Given the description of an element on the screen output the (x, y) to click on. 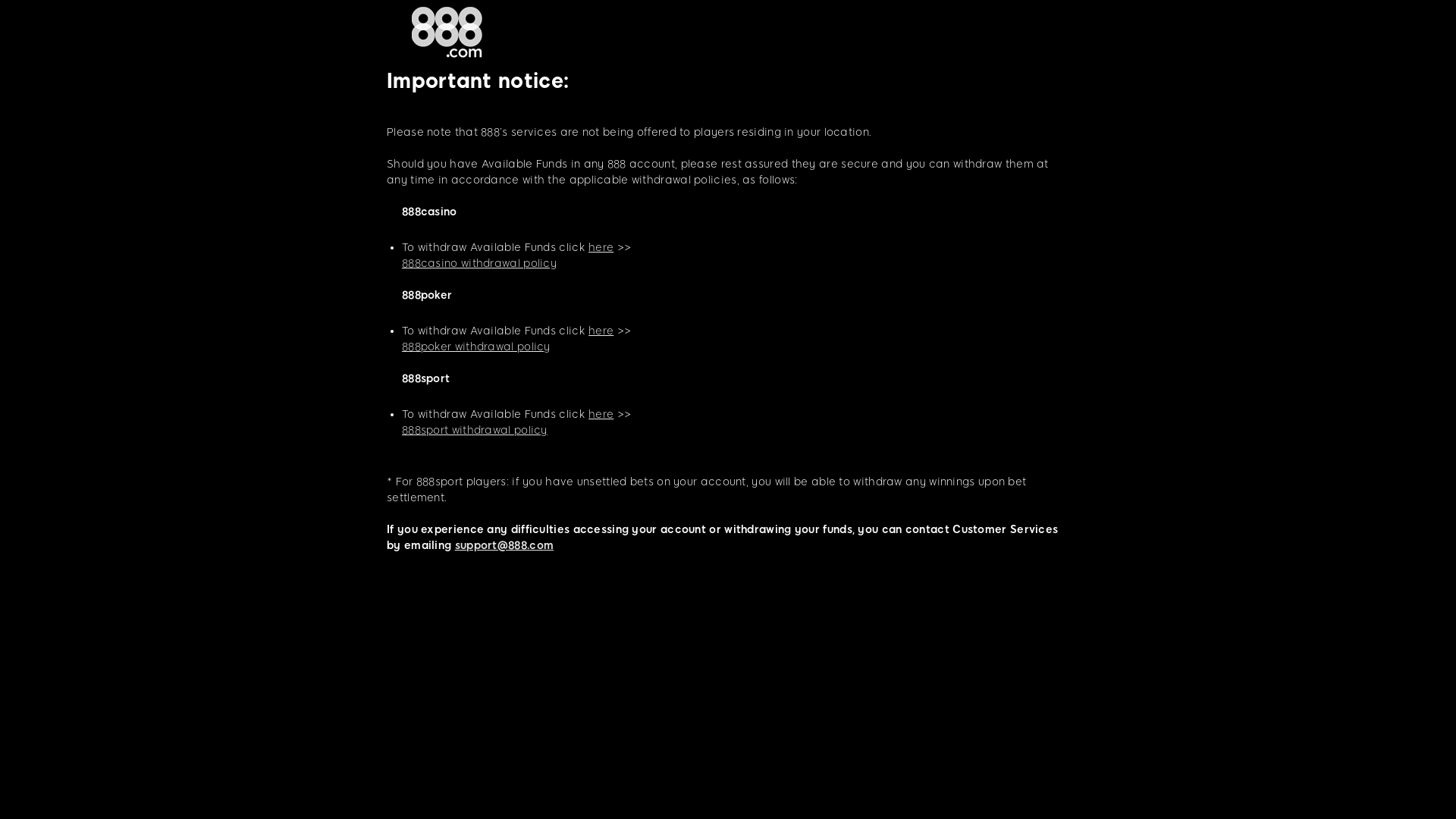
here Element type: text (600, 330)
here Element type: text (600, 247)
here Element type: text (600, 413)
888casino withdrawal policy Element type: text (478, 263)
888poker withdrawal policy Element type: text (475, 346)
support@888.com Element type: text (504, 545)
888sport withdrawal policy Element type: text (474, 429)
